Given the description of an element on the screen output the (x, y) to click on. 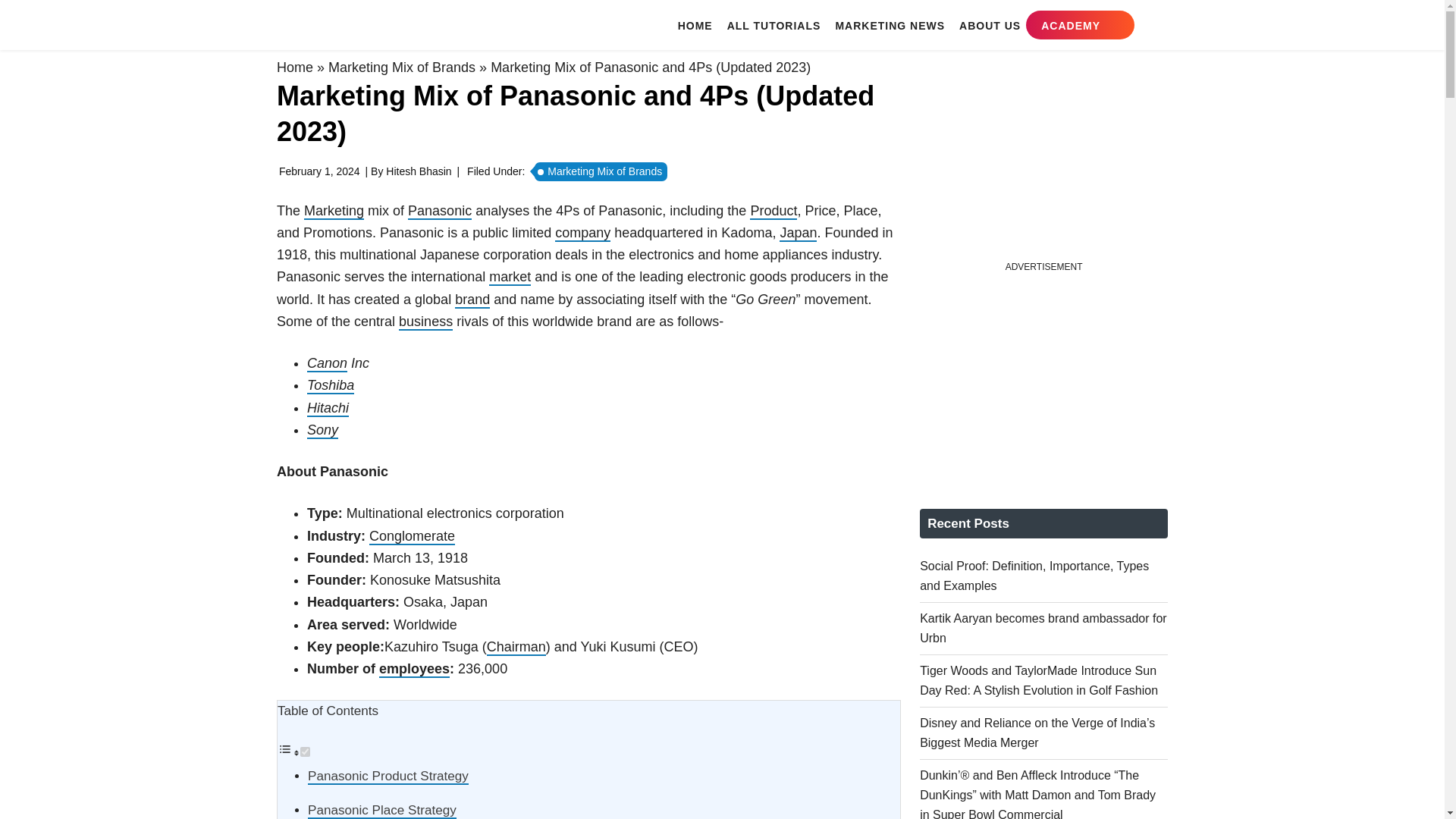
ALL TUTORIALS (773, 24)
HOME (695, 24)
on (304, 751)
Panasonic Place Strategy (382, 811)
MARKETING91 (369, 24)
Panasonic Product Strategy (387, 776)
